Given the description of an element on the screen output the (x, y) to click on. 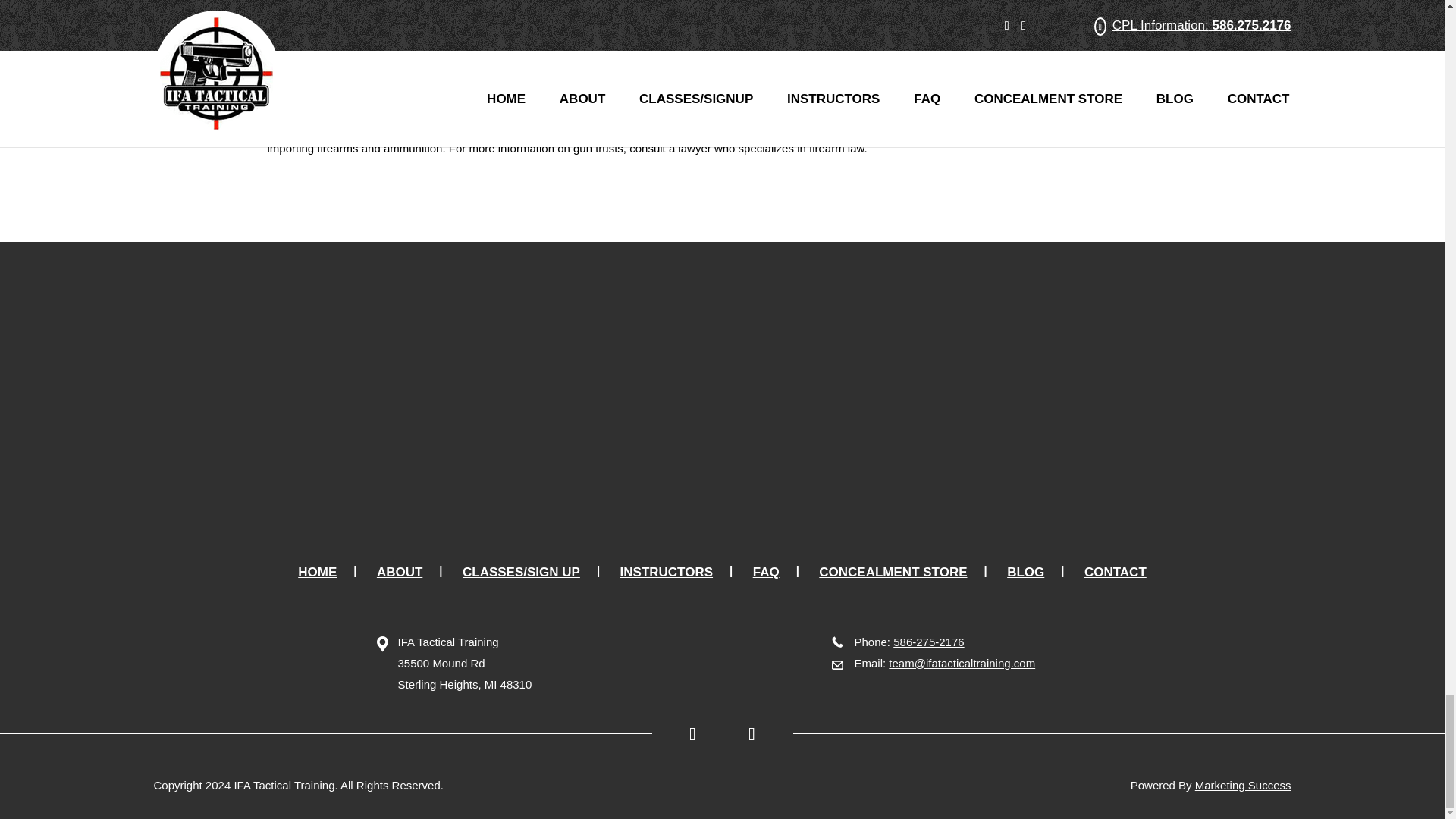
Follow on Instagram (757, 733)
Follow on Facebook (686, 733)
